Given the description of an element on the screen output the (x, y) to click on. 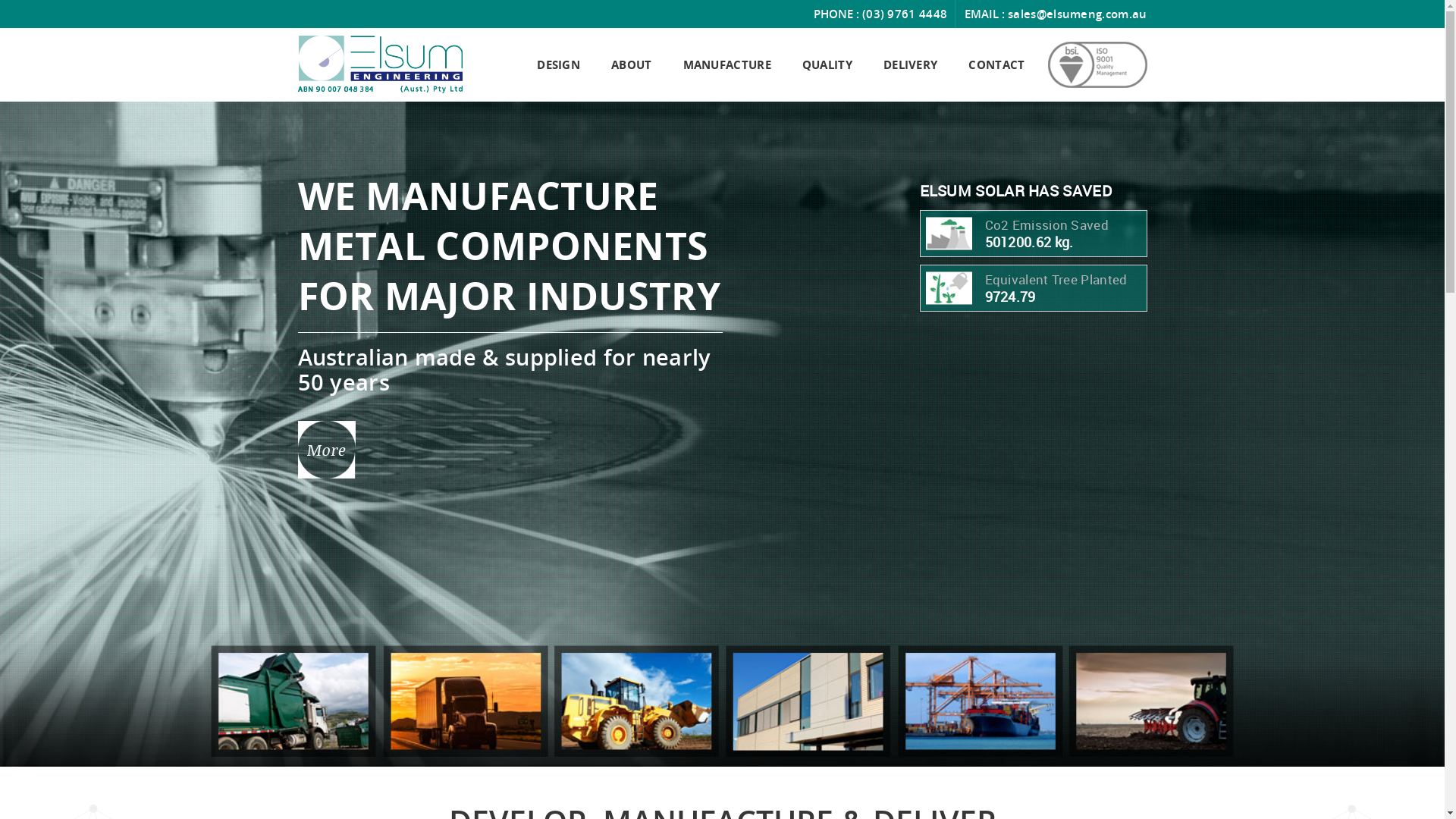
ABOUT Element type: text (631, 64)
(03) 9761 4448 Element type: text (904, 13)
DELIVERY Element type: text (910, 64)
sales@elsumeng.com.au Element type: text (1076, 13)
MANUFACTURE Element type: text (727, 64)
More Element type: hover (325, 449)
CONTACT Element type: text (996, 64)
DESIGN Element type: text (558, 64)
QUALITY Element type: text (827, 64)
Elsum Engineering Aust Element type: hover (379, 62)
